Given the description of an element on the screen output the (x, y) to click on. 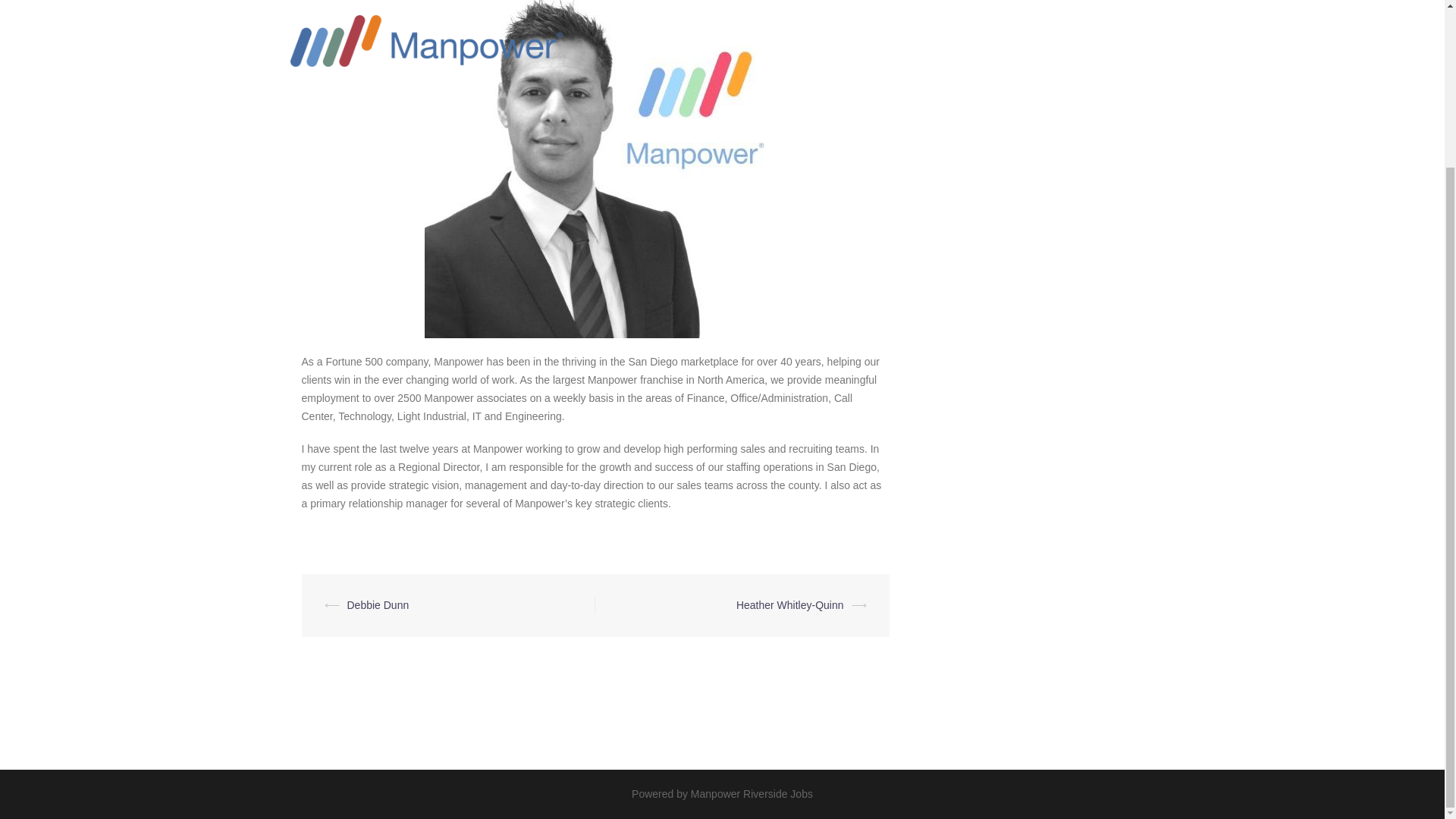
Debbie Dunn (378, 604)
Powered by Manpower Riverside Jobs (721, 793)
Heather Whitley-Quinn (790, 604)
